Given the description of an element on the screen output the (x, y) to click on. 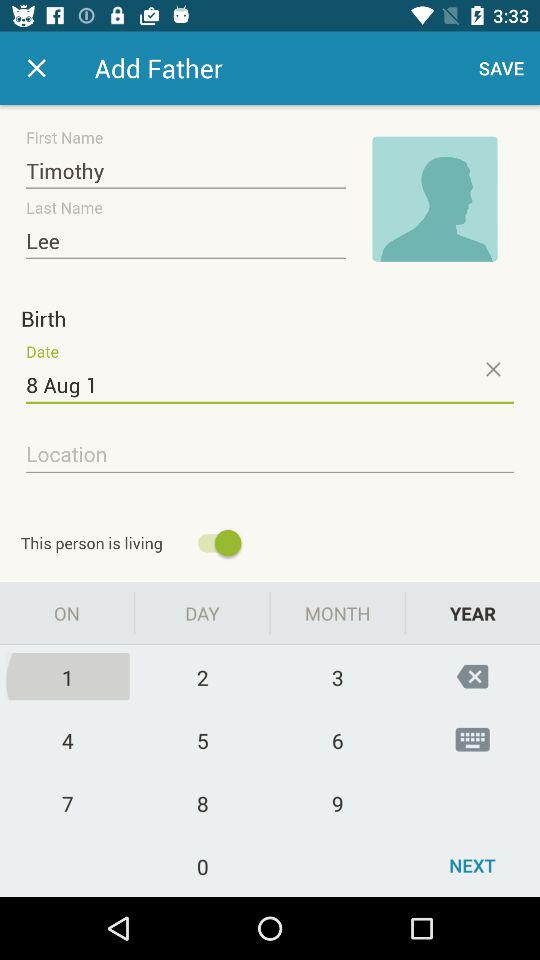
add image (435, 199)
